Given the description of an element on the screen output the (x, y) to click on. 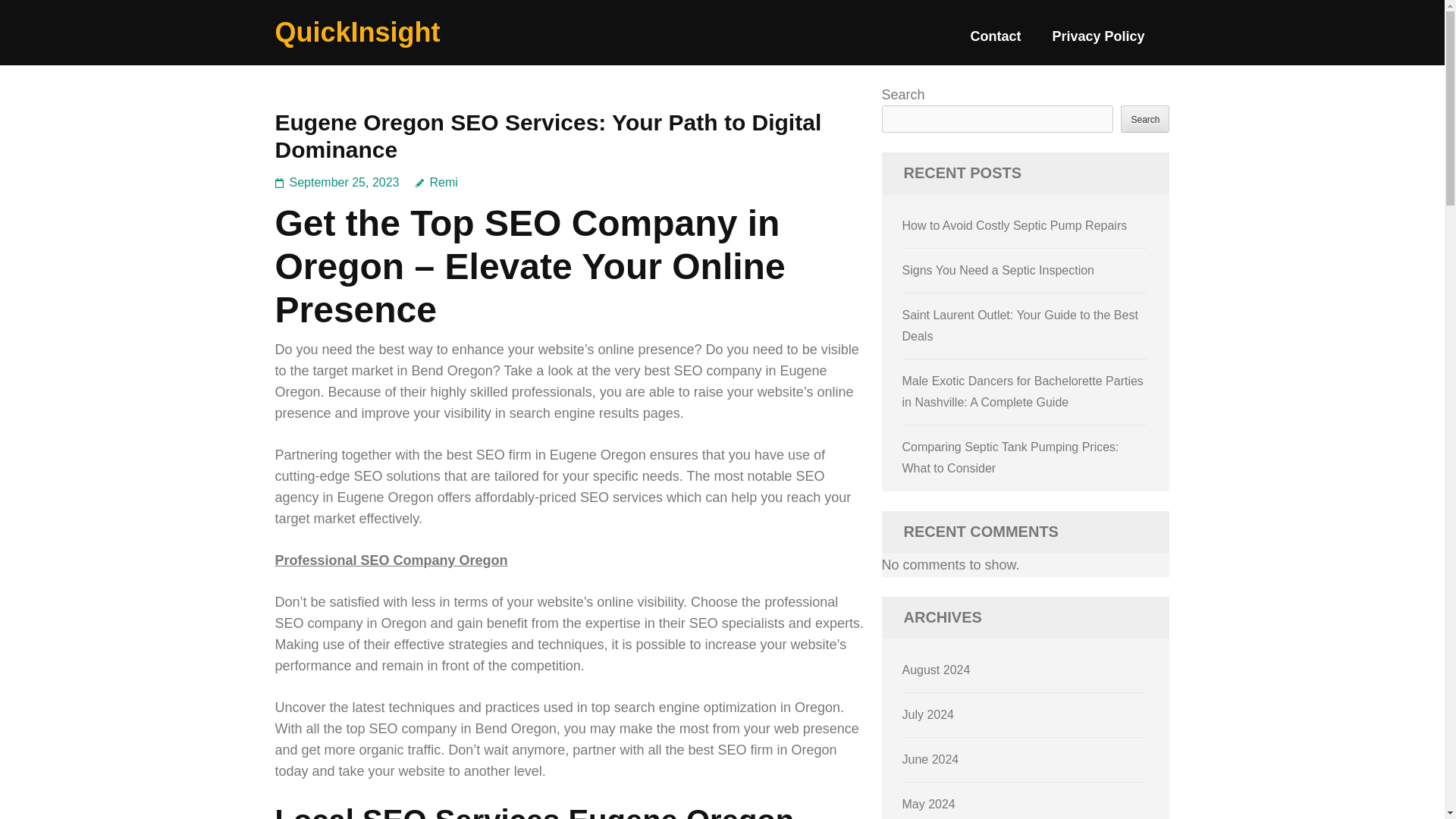
Saint Laurent Outlet: Your Guide to the Best Deals (1020, 325)
Search (1145, 118)
Comparing Septic Tank Pumping Prices: What to Consider (1010, 457)
September 25, 2023 (343, 182)
July 2024 (928, 714)
How to Avoid Costly Septic Pump Repairs (1014, 225)
Privacy Policy (1097, 42)
Professional SEO Company Oregon (390, 560)
Contact (994, 42)
Signs You Need a Septic Inspection (998, 269)
